Given the description of an element on the screen output the (x, y) to click on. 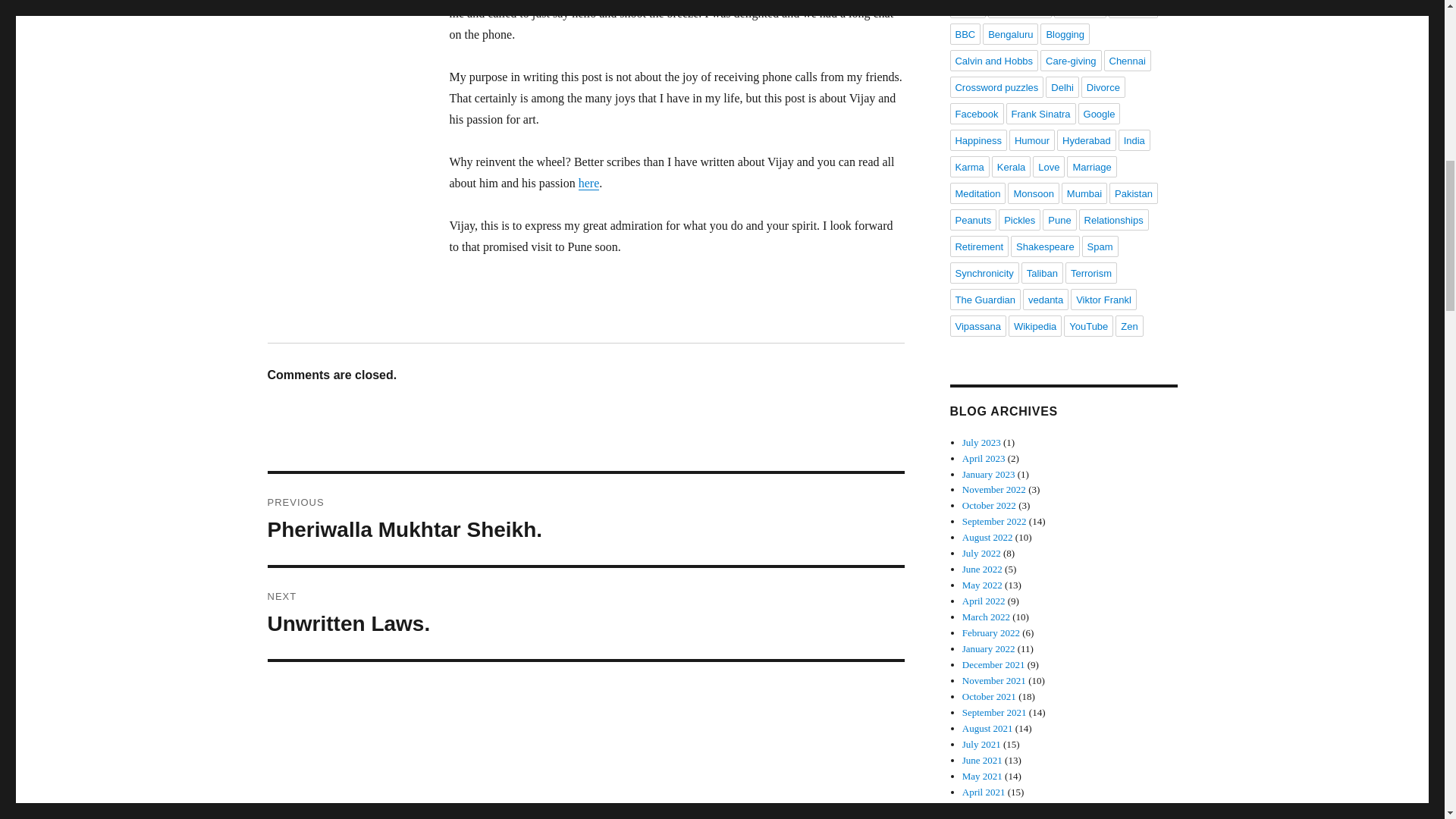
Happiness (977, 139)
Care-giving (585, 519)
here (1070, 60)
Aging (588, 182)
Frank Sinatra (967, 9)
Blogging (1040, 113)
Delhi (1065, 34)
Bengaluru (1061, 86)
Australia (1010, 34)
